Given the description of an element on the screen output the (x, y) to click on. 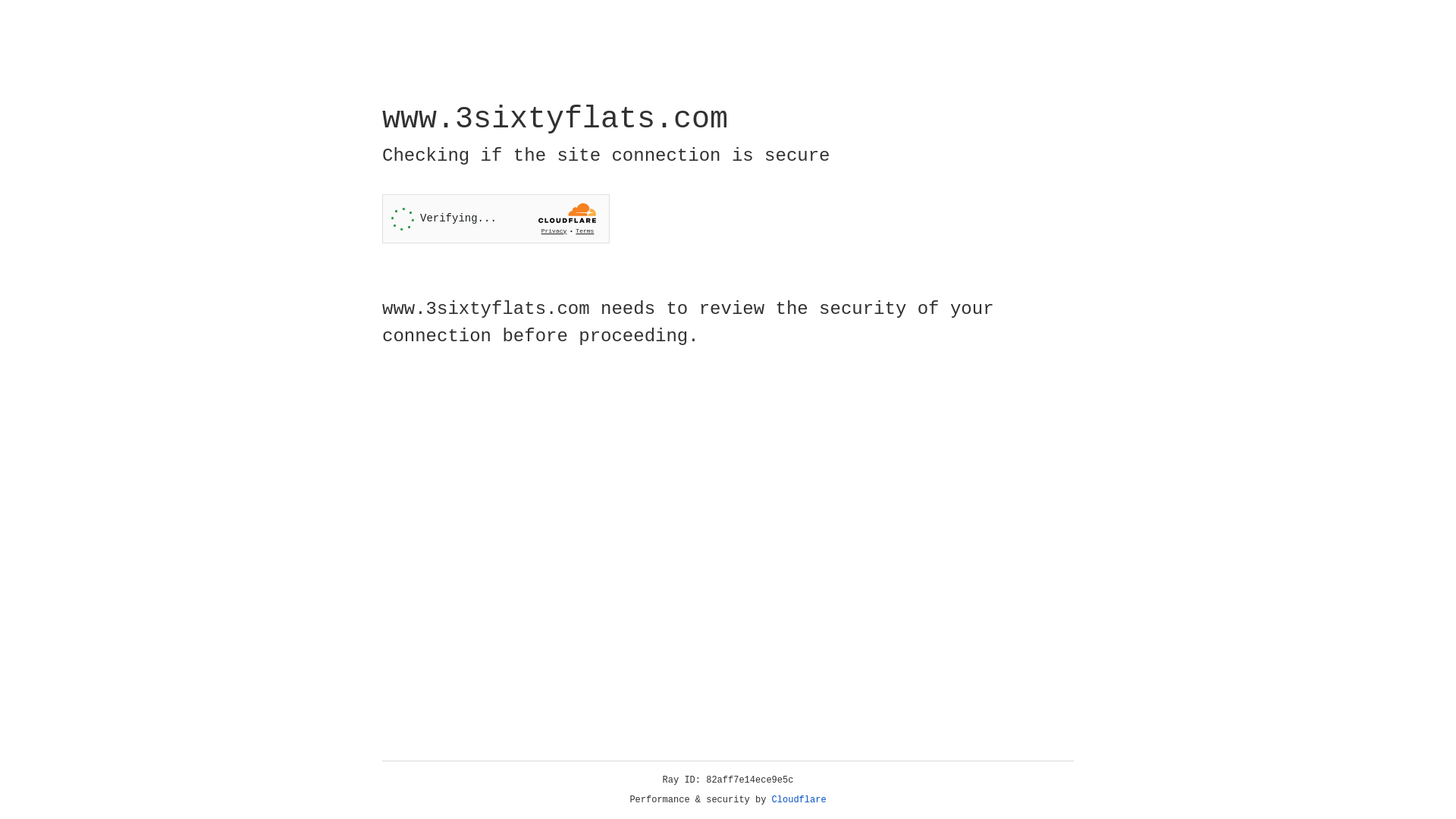
Cloudflare Element type: text (798, 799)
Widget containing a Cloudflare security challenge Element type: hover (495, 218)
